Given the description of an element on the screen output the (x, y) to click on. 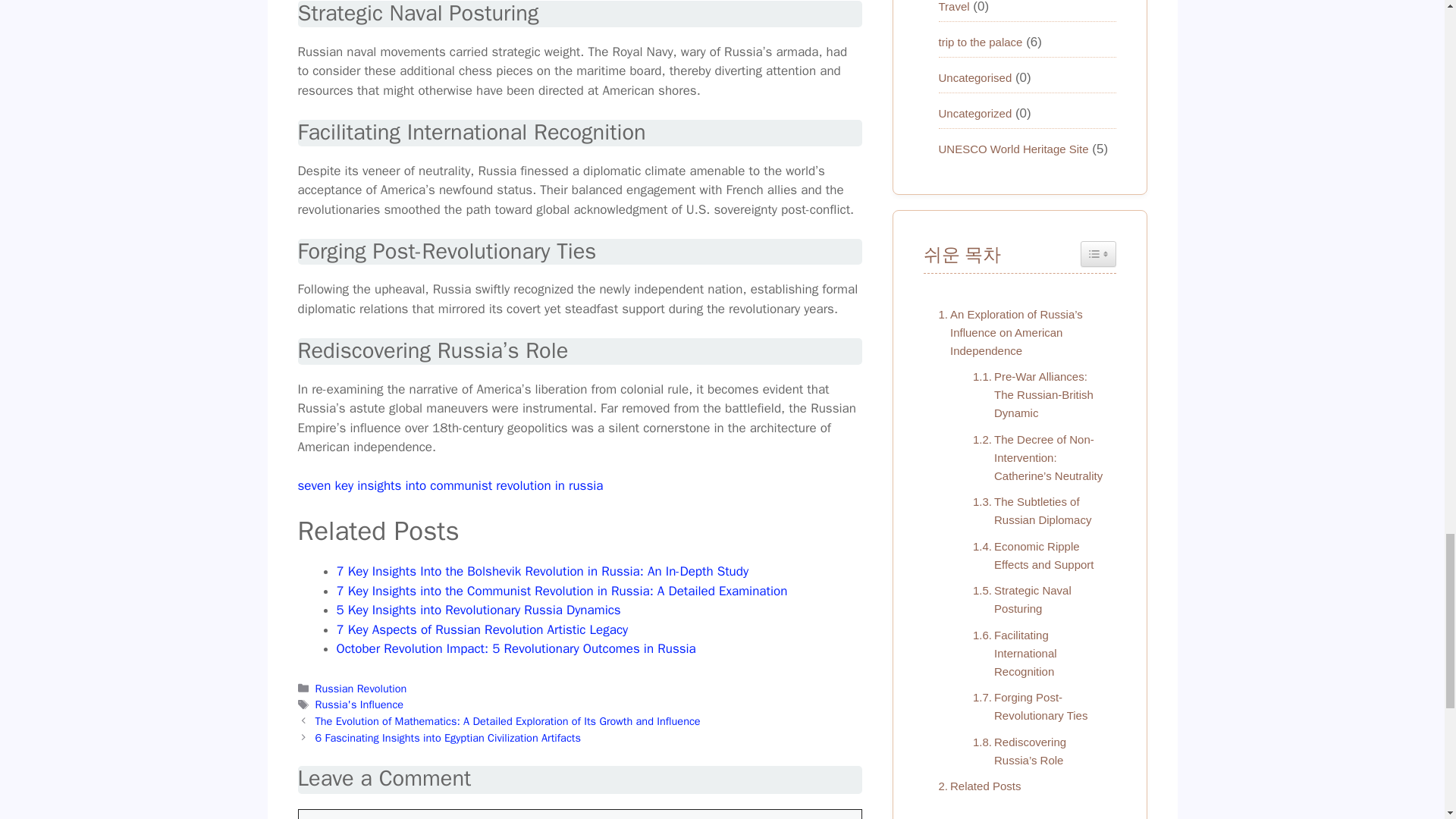
Pre-War Alliances: The Russian-British Dynamic (1036, 394)
Economic Ripple Effects and Support (1036, 555)
seven key insights into communist revolution in russia (449, 485)
Russian Revolution (361, 688)
The Subtleties of Russian Diplomacy (1036, 511)
6 Fascinating Insights into Egyptian Civilization Artifacts (447, 737)
5 Key Insights into Revolutionary Russia Dynamics (478, 609)
Russia's Influence (359, 704)
7 Key Aspects of Russian Revolution Artistic Legacy (482, 629)
